Given the description of an element on the screen output the (x, y) to click on. 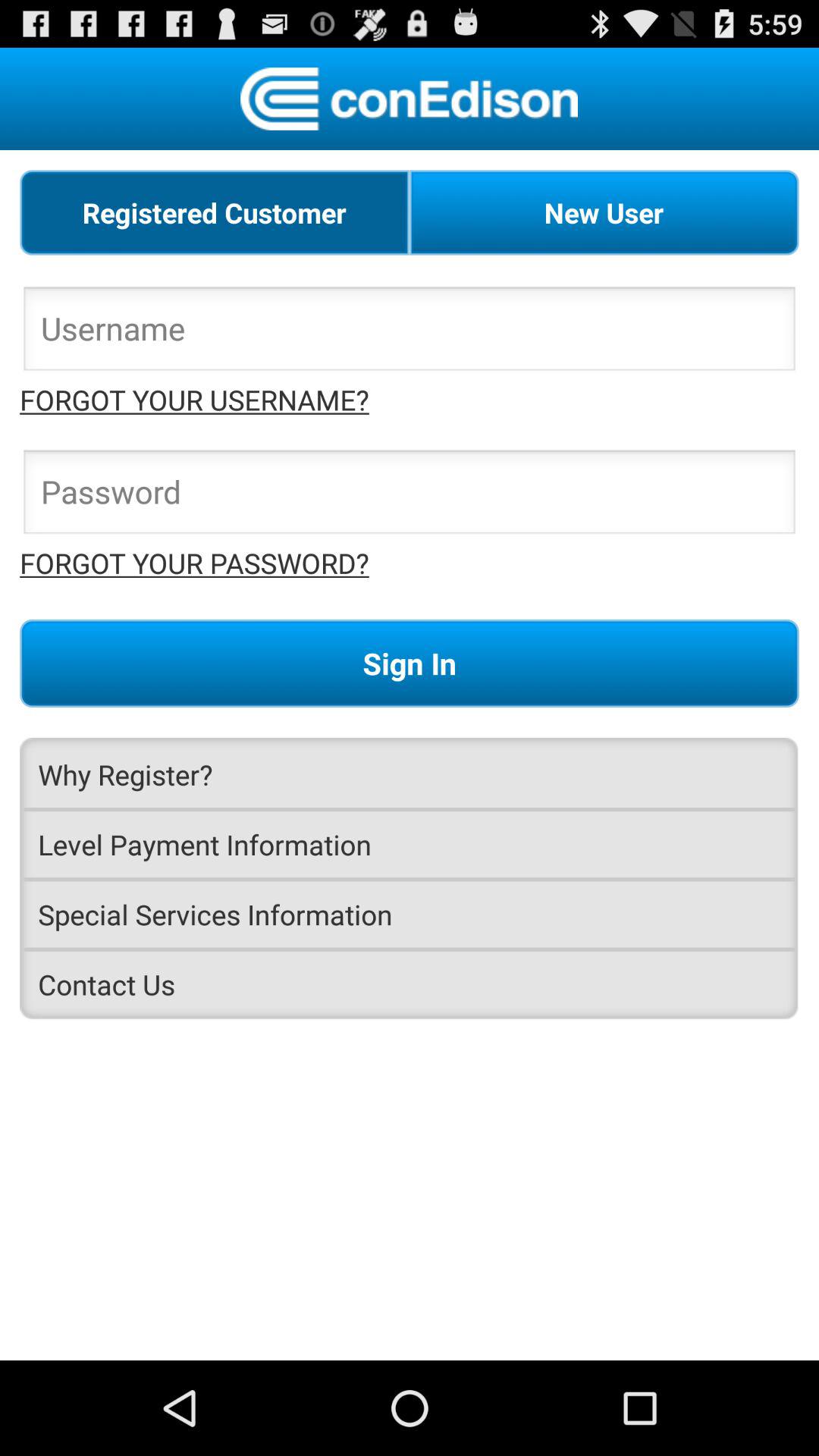
swipe until the sign in item (409, 663)
